Given the description of an element on the screen output the (x, y) to click on. 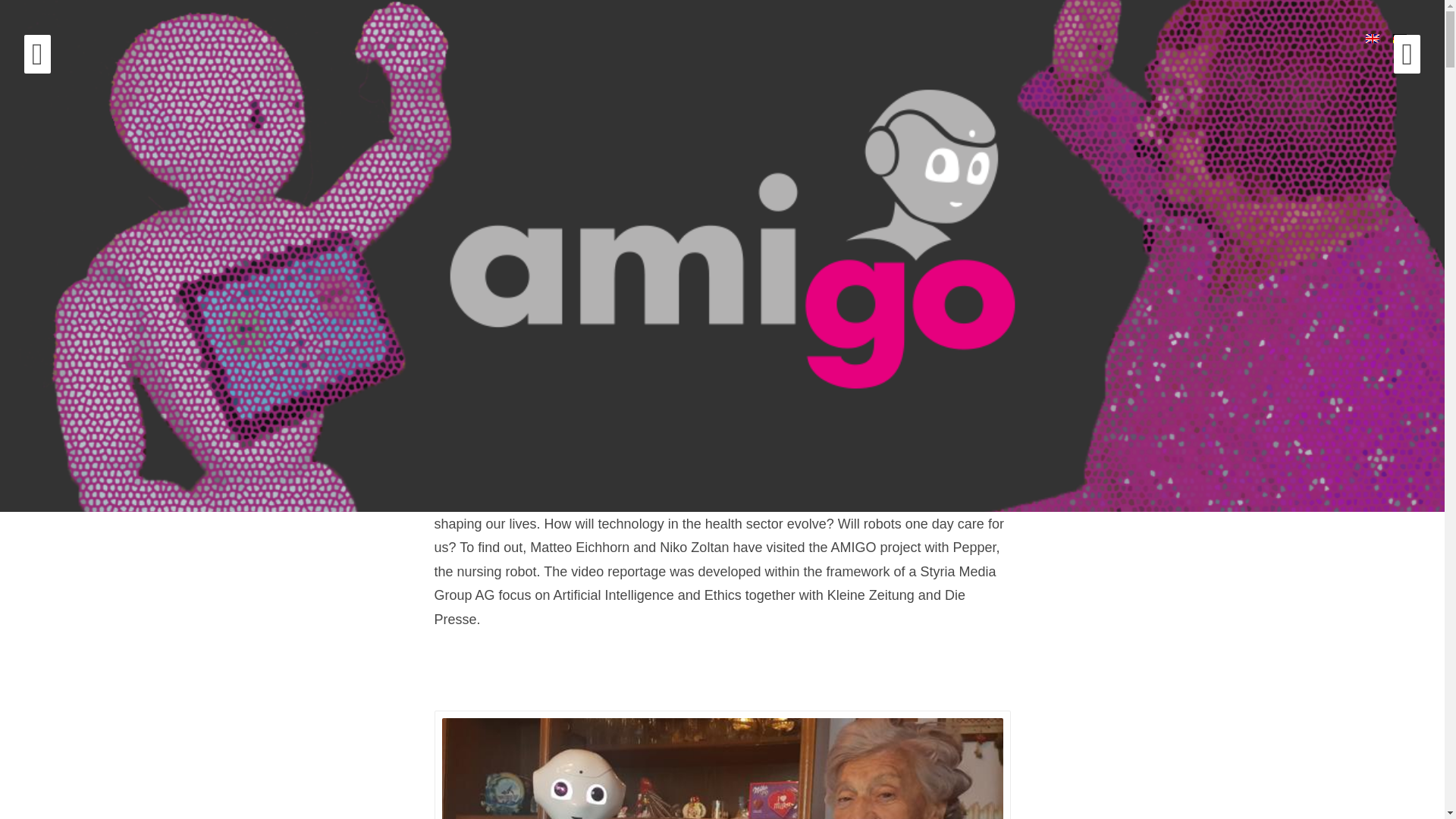
AMIGO (203, 203)
Austrian Media (506, 499)
